Given the description of an element on the screen output the (x, y) to click on. 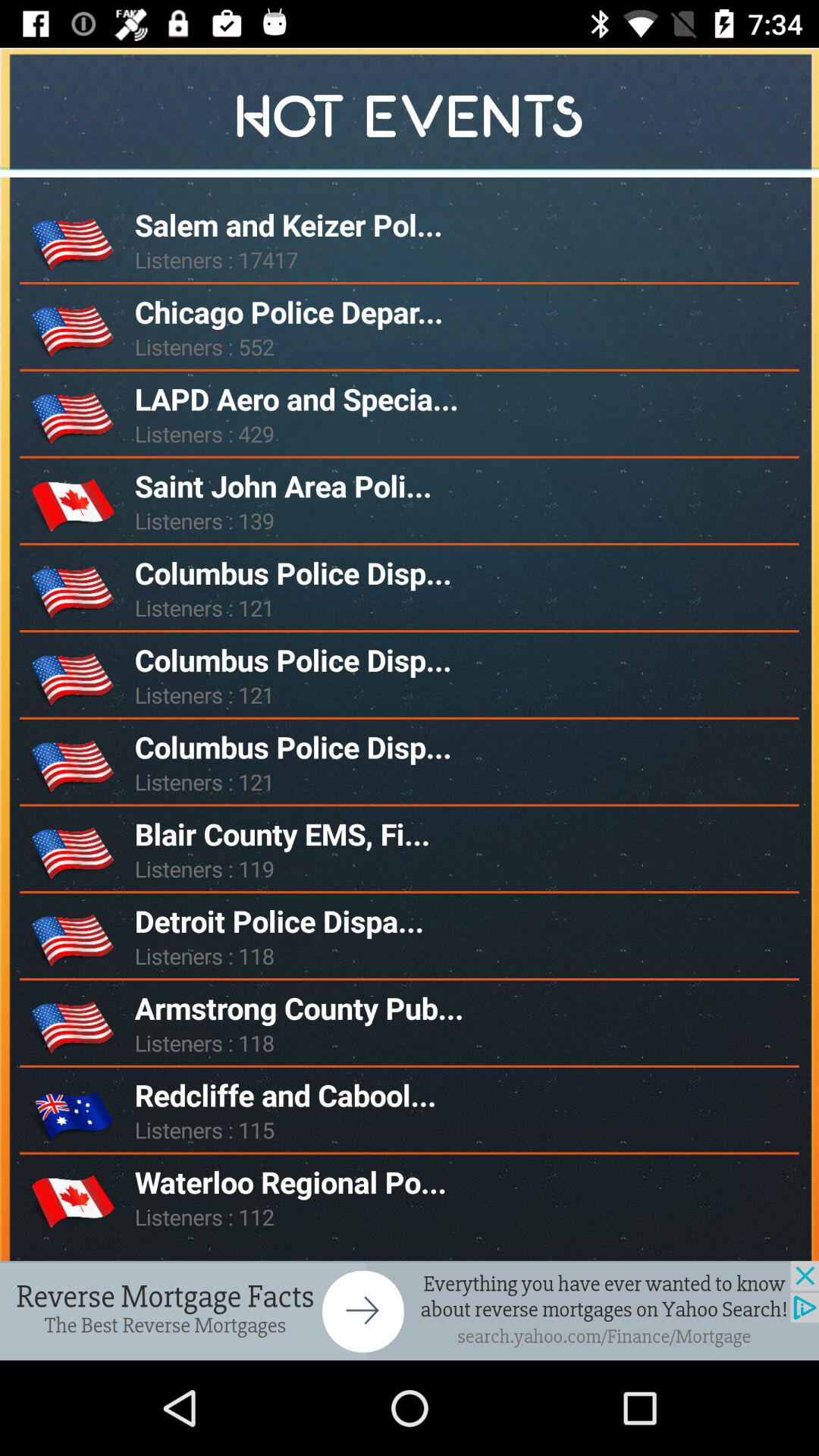
advertisement link (409, 1310)
